Given the description of an element on the screen output the (x, y) to click on. 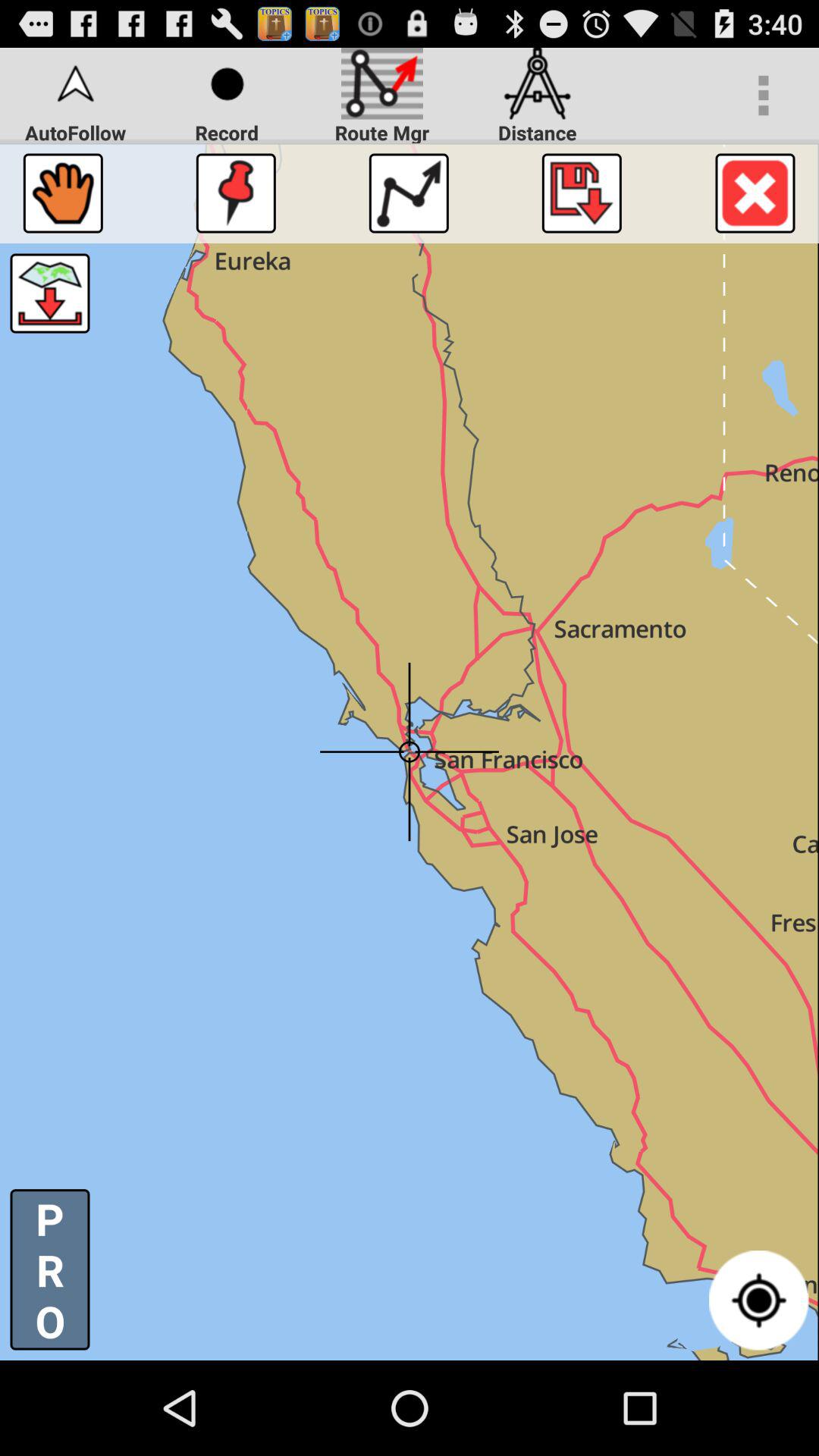
launch button next to p
r
o button (758, 1300)
